Given the description of an element on the screen output the (x, y) to click on. 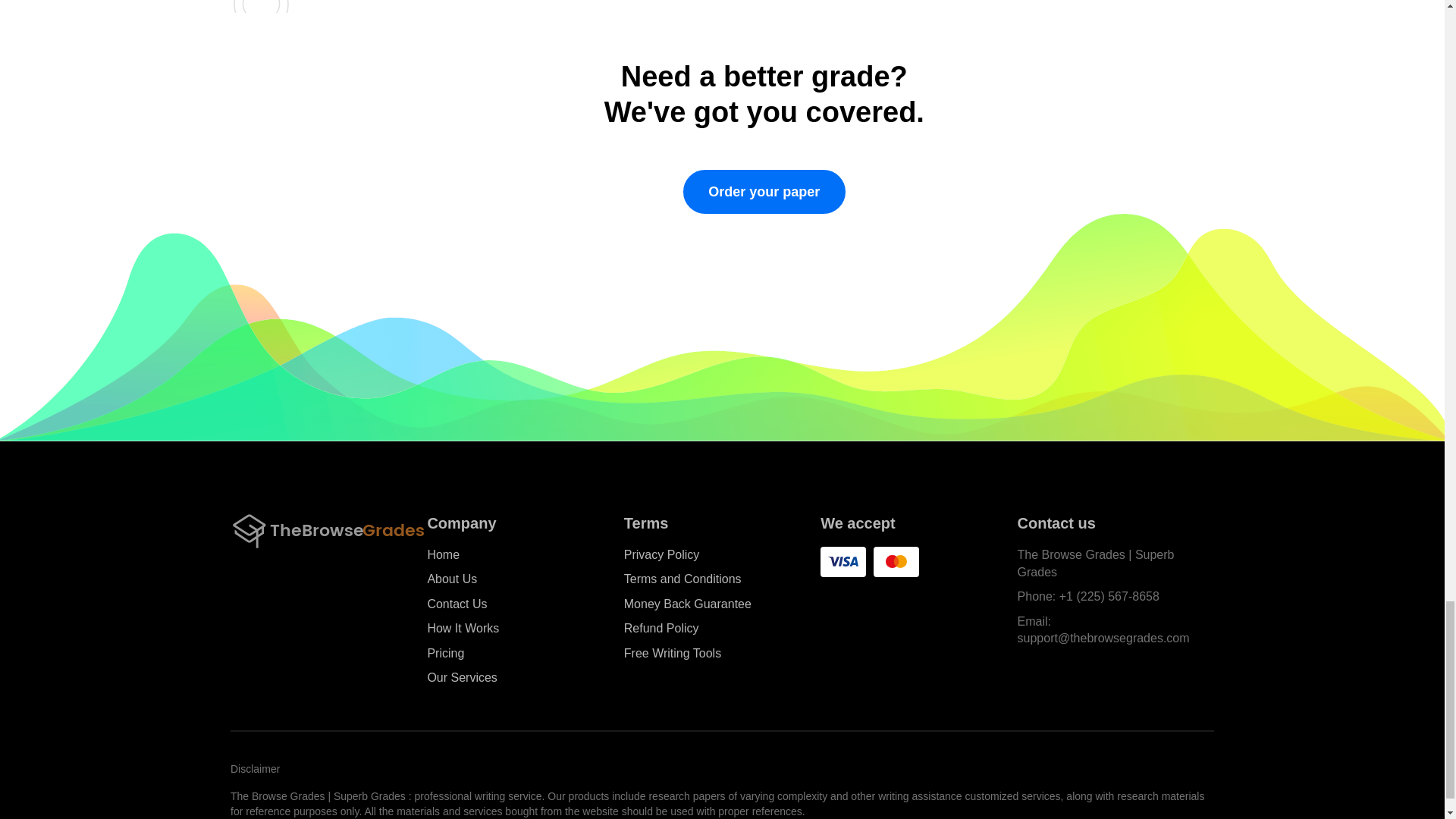
Pricing (445, 653)
Terms and Conditions (682, 579)
Our Services (461, 677)
Money Back Guarantee (687, 604)
Order your paper (763, 191)
Privacy Policy (662, 554)
Home (443, 554)
About Us (451, 579)
How It Works (462, 628)
Contact Us (456, 604)
